Given the description of an element on the screen output the (x, y) to click on. 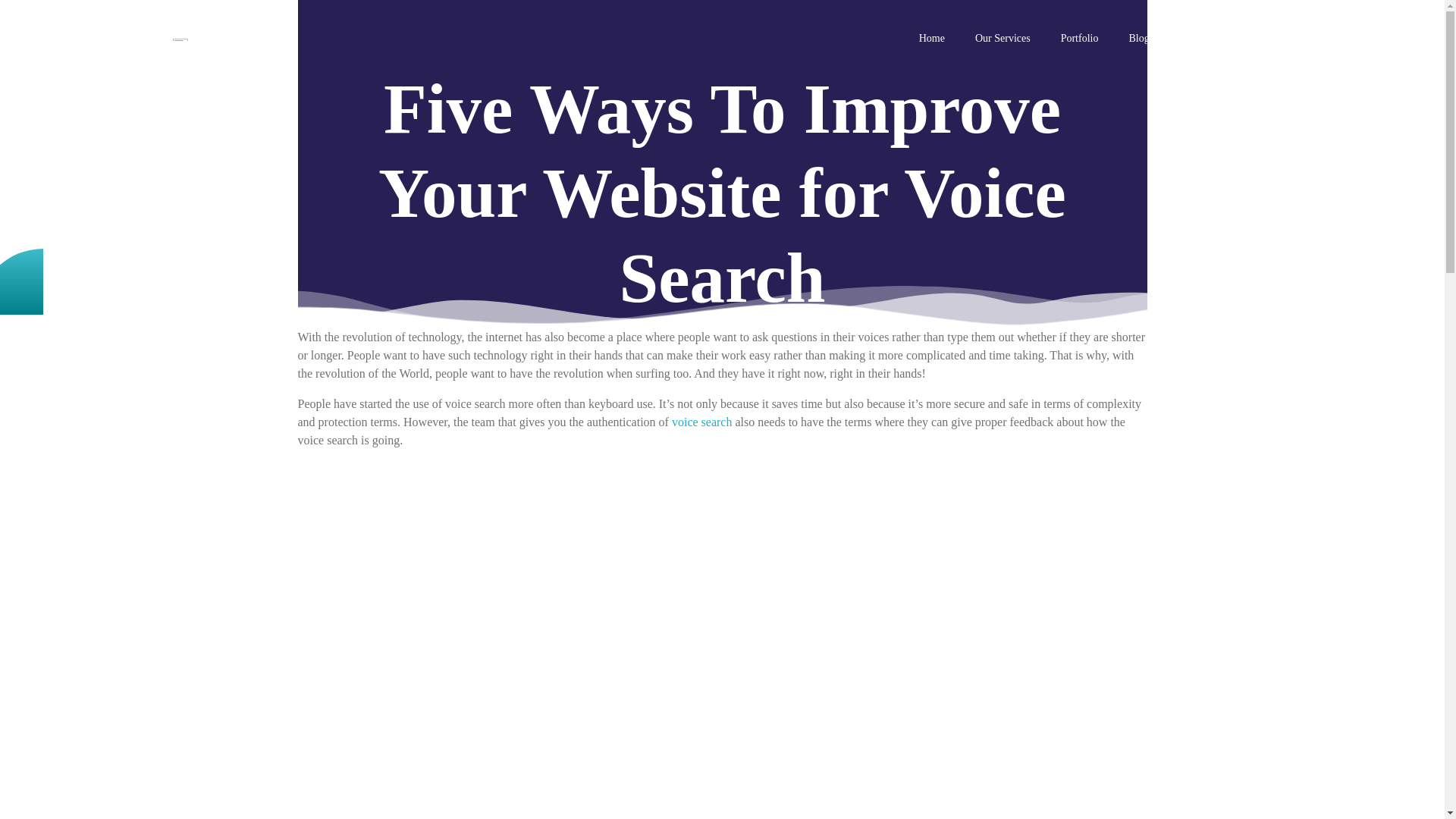
Portfolio (1079, 38)
03333 01 1985 (1277, 41)
Our Services (1002, 38)
Contact Us (1203, 38)
